Given the description of an element on the screen output the (x, y) to click on. 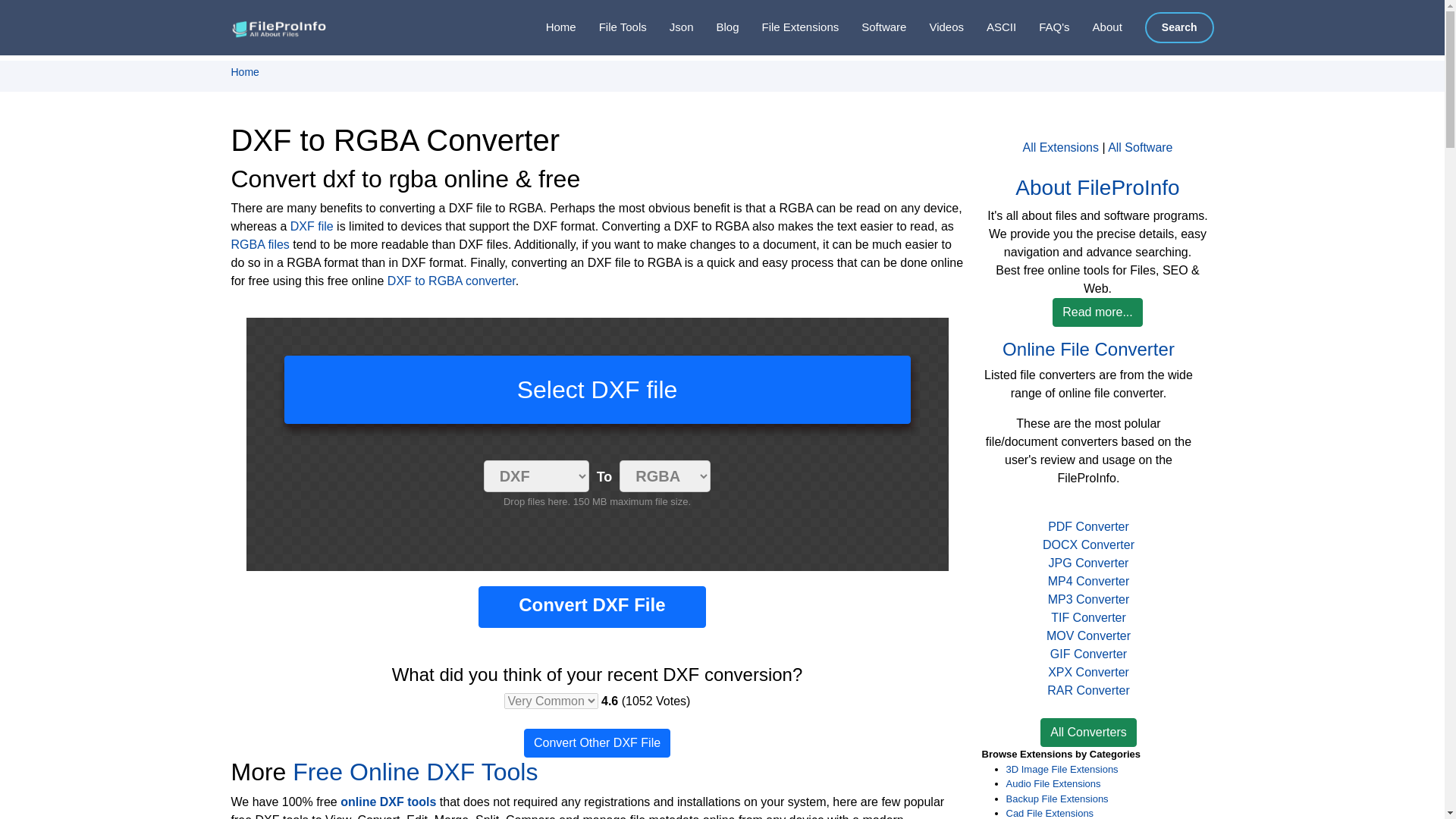
Software (871, 27)
Select DXF file (596, 389)
free online dxf tools (414, 771)
ASCII (989, 27)
Blog (715, 27)
DXF to RGBA converter (451, 280)
FAQ's (1042, 27)
About (1096, 27)
File Tools (611, 27)
FAQ's (1042, 27)
